Given the description of an element on the screen output the (x, y) to click on. 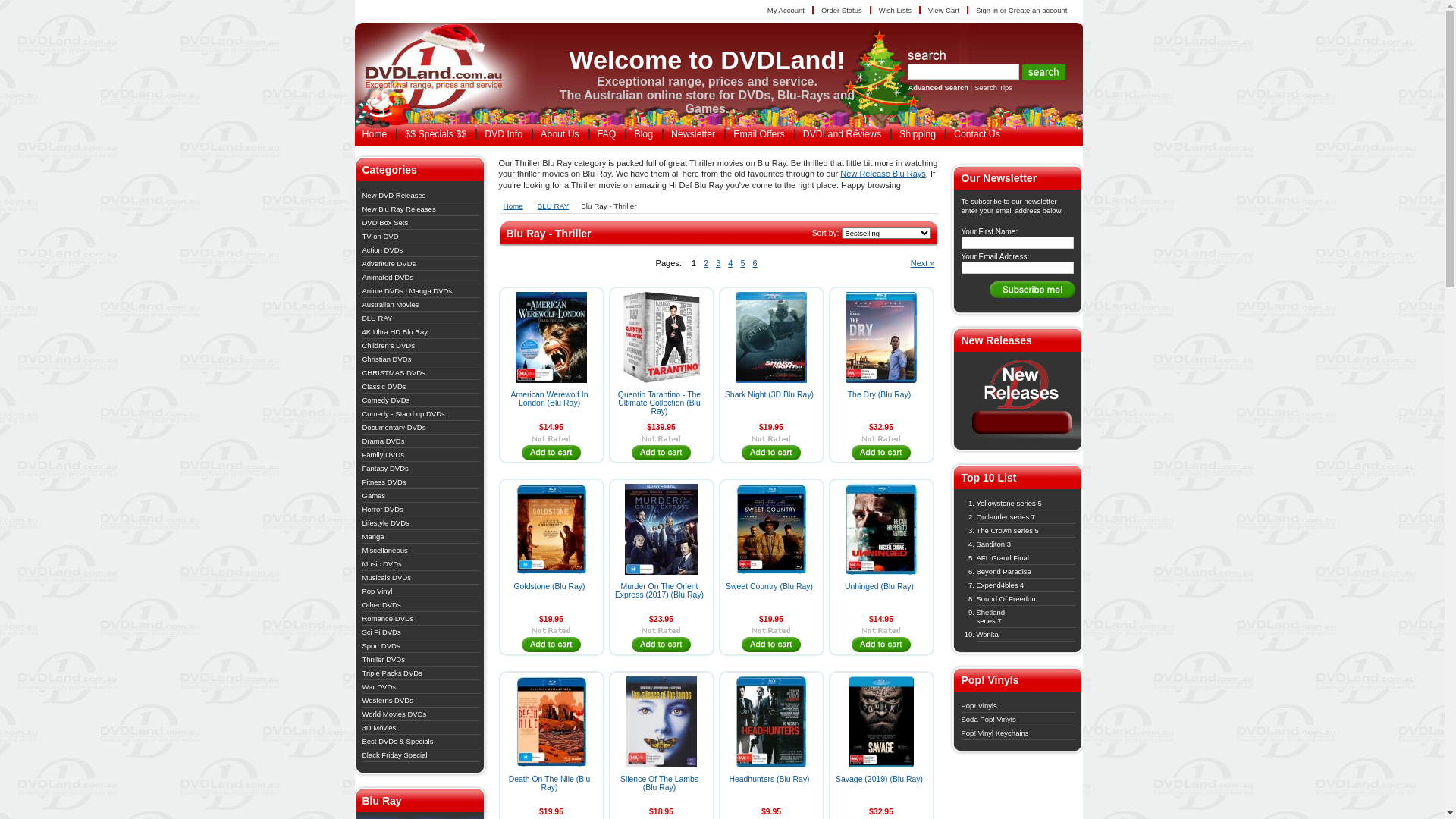
New Release Blu Rays Element type: text (882, 173)
BLU RAY Element type: text (377, 317)
Unhinged (Blu Ray) Element type: text (878, 586)
DVD Info Element type: text (502, 133)
Comedy DVDs Element type: text (386, 399)
Documentary DVDs Element type: text (394, 427)
Miscellaneous Element type: text (384, 550)
Family DVDs Element type: text (383, 454)
5 Element type: text (742, 262)
The Dry (Blu Ray) Element type: text (879, 394)
Advanced Search Element type: text (937, 87)
Best DVDs & Specials Element type: text (397, 741)
War DVDs Element type: text (379, 686)
Fantasy DVDs Element type: text (385, 468)
Games Element type: text (373, 495)
Sanditon 3 Element type: text (993, 543)
AFL Grand Final Element type: text (1002, 557)
Order Status Element type: text (842, 10)
Soda Pop! Vinyls Element type: text (988, 719)
World Movies DVDs Element type: text (394, 713)
Christian DVDs Element type: text (386, 358)
Other DVDs Element type: text (381, 604)
BLU RAY Element type: text (557, 205)
Blog Element type: text (642, 133)
DVDLand Reviews Element type: text (840, 133)
$$ Specials $$ Element type: text (434, 133)
Pop Vinyl Element type: text (377, 590)
            Element type: text (660, 645)
Westerns DVDs Element type: text (387, 700)
Children's DVDs Element type: text (388, 345)
Murder On The Orient Express (2017) (Blu Ray) Element type: text (659, 590)
Musicals DVDs Element type: text (386, 577)
Beyond Paradise Element type: text (1003, 571)
Sign in Element type: text (986, 10)
Music DVDs Element type: text (381, 563)
Silence Of The Lambs (Blu Ray) Element type: text (659, 783)
Classic DVDs Element type: text (384, 386)
            Element type: text (551, 453)
Wonka Element type: text (987, 634)
Action DVDs Element type: text (382, 249)
Sport DVDs Element type: text (381, 645)
3D Movies Element type: text (379, 727)
Manga Element type: text (373, 536)
New DVD Releases Element type: hover (1021, 436)
Email Offers Element type: text (758, 133)
Romance DVDs Element type: text (388, 618)
Comedy - Stand up DVDs Element type: text (403, 413)
Thriller DVDs Element type: text (383, 659)
My Account Element type: text (786, 10)
            Element type: text (880, 645)
Sci Fi DVDs Element type: text (381, 631)
Yellowstone series 5 Element type: text (1008, 502)
3 Element type: text (717, 262)
Anime DVDs | Manga DVDs Element type: text (407, 290)
            Element type: text (880, 453)
            Element type: text (551, 645)
Death On The Nile (Blu Ray) Element type: text (549, 783)
Outlander series 7 Element type: text (1005, 516)
The Crown series 5 Element type: text (1007, 530)
Triple Packs DVDs Element type: text (392, 672)
View Cart Element type: text (944, 10)
Horror DVDs Element type: text (382, 509)
Newsletter Element type: text (692, 133)
Shipping Element type: text (916, 133)
Quentin Tarantino - The Ultimate Collection (Blu Ray) Element type: text (659, 402)
Expend4bles 4 Element type: text (1000, 584)
4K Ultra HD Blu Ray Element type: text (395, 331)
Pop! Vinyl Keychains Element type: text (995, 732)
New DVD Releases Element type: text (394, 195)
4 Element type: text (730, 262)
Lifestyle DVDs Element type: text (385, 522)
            Element type: text (660, 453)
Create an account Element type: text (1037, 10)
2 Element type: text (705, 262)
Animated DVDs Element type: text (388, 277)
Shetland
series 7 Element type: text (990, 616)
Pop! Vinyls Element type: text (979, 705)
Shark Night (3D Blu Ray) Element type: text (768, 394)
DVD Box Sets Element type: text (385, 222)
Drama DVDs Element type: text (383, 440)
Savage (2019) (Blu Ray) Element type: text (878, 779)
Australian Movies Element type: text (390, 304)
            Element type: text (771, 453)
            Element type: text (771, 645)
Wish Lists Element type: text (895, 10)
Home Element type: text (516, 205)
6 Element type: text (754, 262)
Fitness DVDs Element type: text (384, 481)
Home Element type: text (374, 133)
Search Tips Element type: text (993, 87)
FAQ Element type: text (606, 133)
American Werewolf In London (Blu Ray) Element type: text (549, 398)
Goldstone (Blu Ray) Element type: text (549, 586)
CHRISTMAS DVDs Element type: text (393, 372)
Headhunters (Blu Ray) Element type: text (768, 779)
Adventure DVDs Element type: text (389, 263)
New Blu Ray Releases Element type: text (399, 208)
  Element type: text (441, 71)
Black Friday Special Element type: text (394, 754)
Sweet Country (Blu Ray) Element type: text (768, 586)
Contact Us Element type: text (975, 133)
TV on DVD Element type: text (380, 236)
Sound Of Freedom Element type: text (1007, 598)
About Us Element type: text (558, 133)
